Given the description of an element on the screen output the (x, y) to click on. 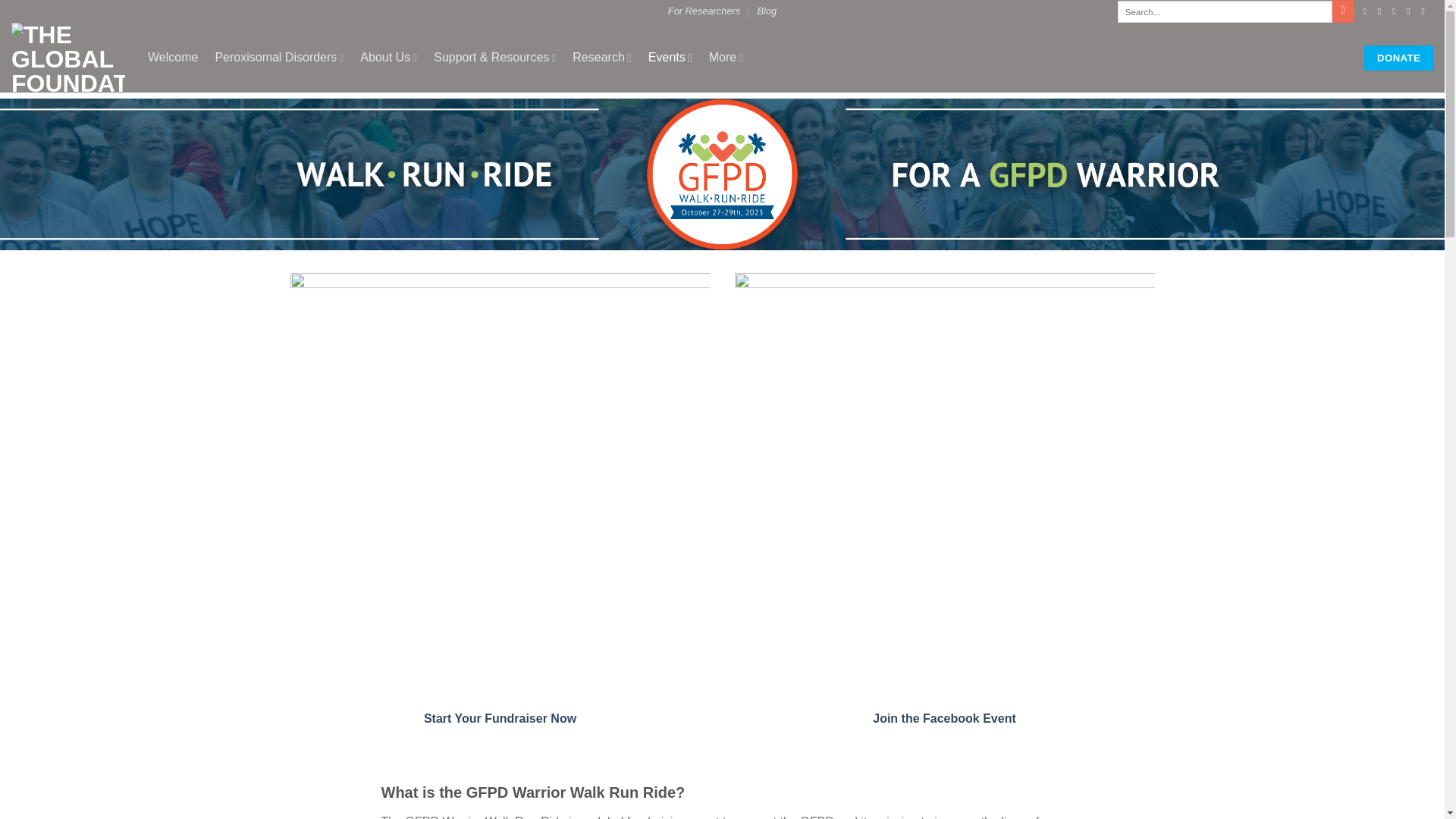
Blog (767, 11)
The Global Foundation for Peroxisomal Disorders (68, 57)
For Researchers (703, 11)
Welcome (173, 57)
Research (601, 57)
Peroxisomal Disorders (278, 57)
Start Your Fundraiser Now (499, 717)
About Us (387, 57)
